Given the description of an element on the screen output the (x, y) to click on. 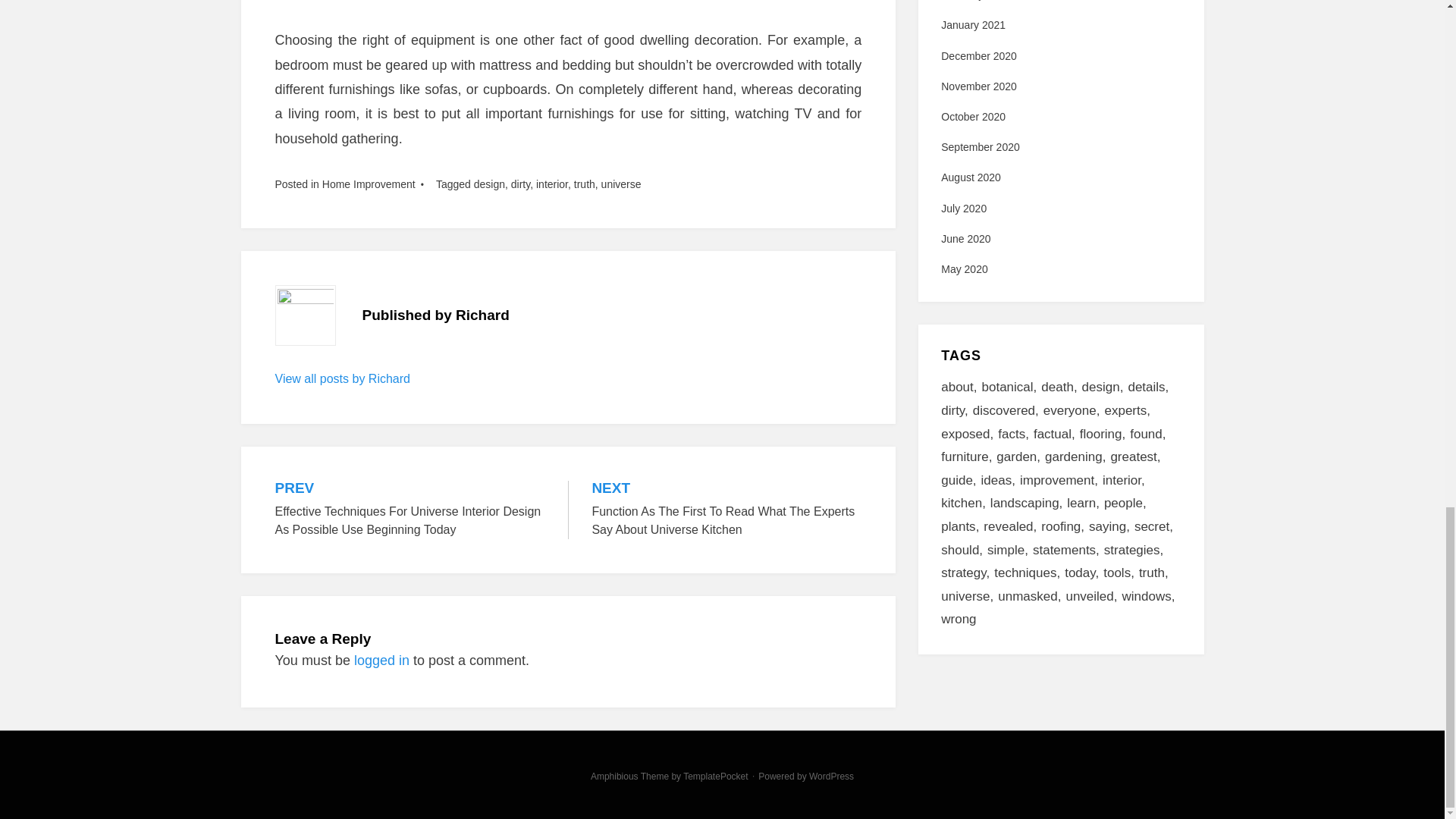
logged in (381, 660)
design (489, 184)
View all posts by Richard (342, 378)
truth (584, 184)
Home Improvement (367, 184)
WordPress (831, 776)
interior (551, 184)
TemplatePocket (715, 776)
